Given the description of an element on the screen output the (x, y) to click on. 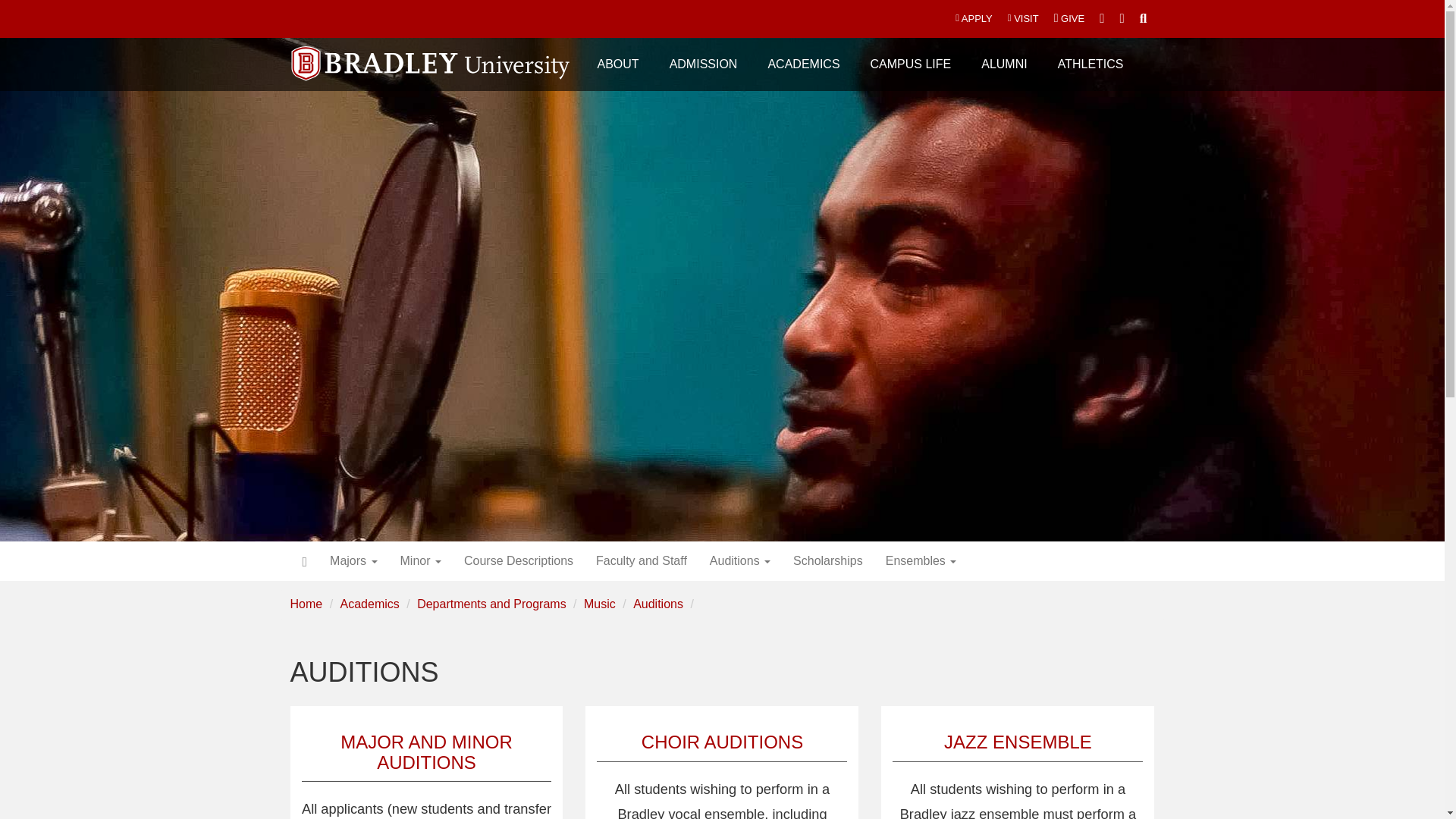
VISIT (1023, 18)
Bradley University (430, 53)
APPLY (973, 18)
Bradley University (430, 53)
GIVE (1069, 18)
